Given the description of an element on the screen output the (x, y) to click on. 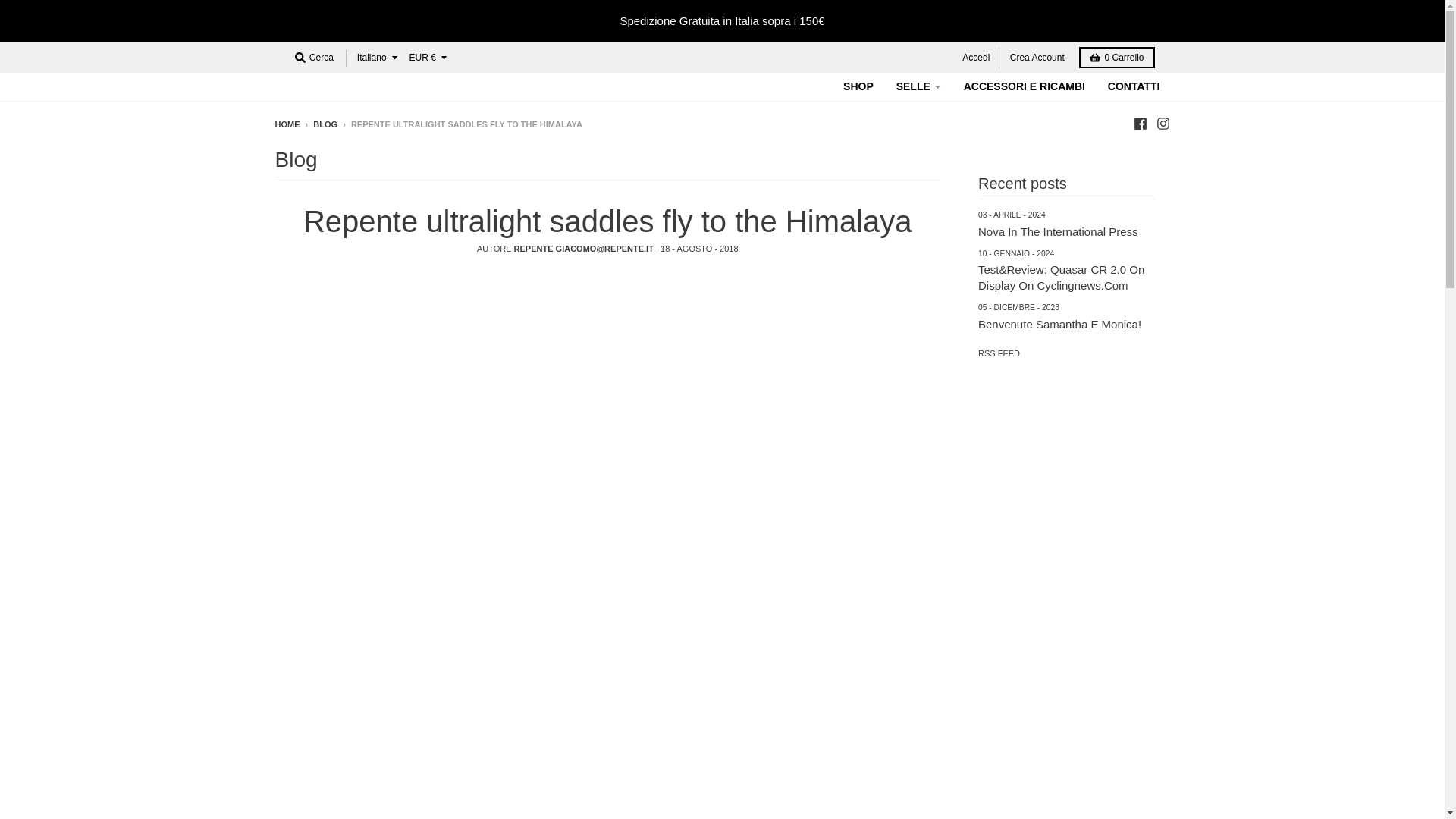
Ritorna all'HomePage (287, 123)
Cerca (313, 56)
Instagram - Repente (1162, 123)
Italiano (376, 57)
Facebook - Repente (1139, 123)
